Given the description of an element on the screen output the (x, y) to click on. 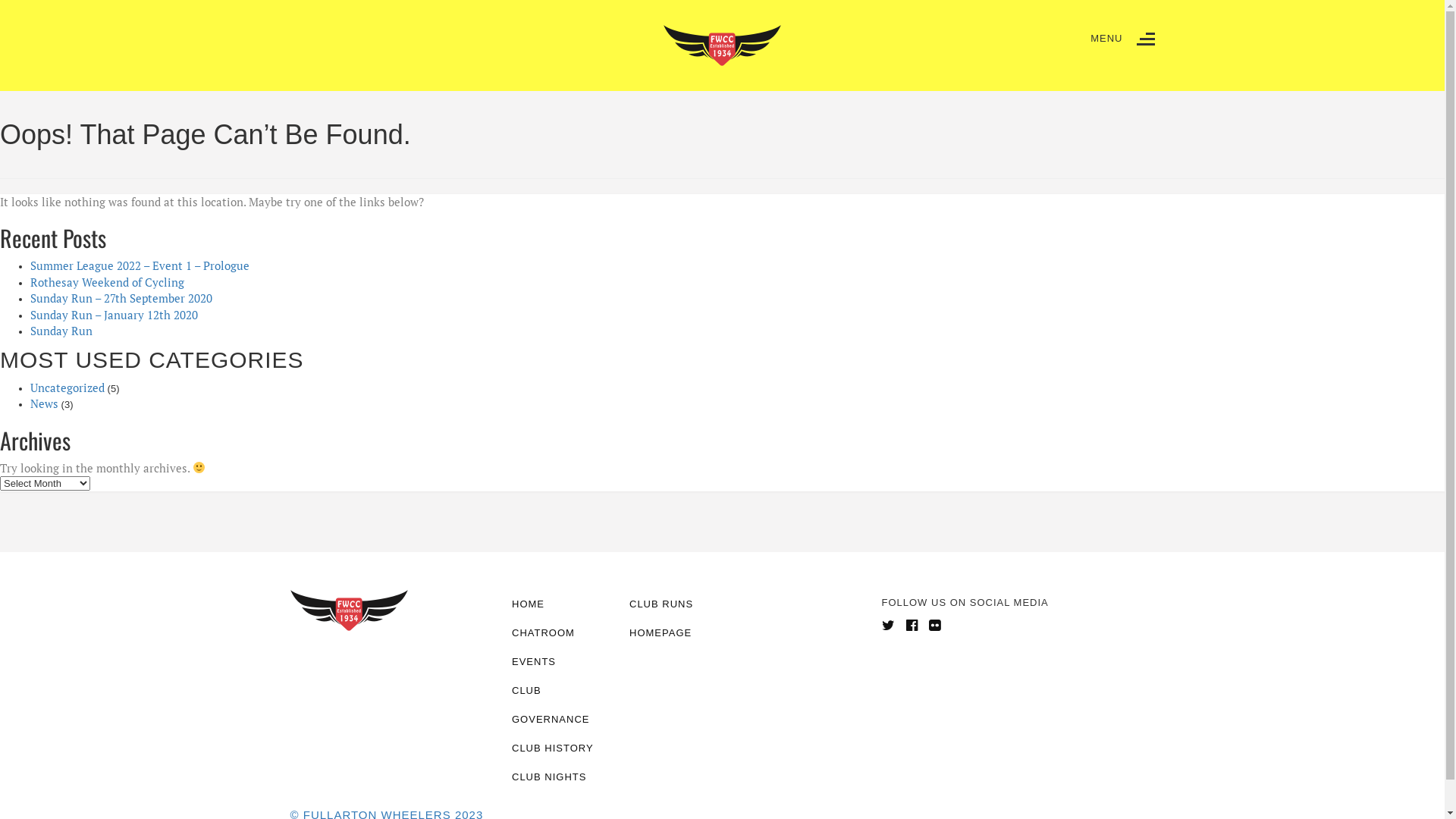
Sunday Run Element type: text (61, 330)
CHATROOM Element type: text (559, 632)
HOME Element type: text (352, 105)
Rothesay Weekend of Cycling Element type: text (107, 281)
CLUB NIGHTS Element type: text (559, 776)
EVENTS Element type: text (500, 105)
News Element type: text (44, 403)
HOMEPAGE Element type: text (676, 632)
EVENTS Element type: text (559, 661)
CLUB GOVERNANCE Element type: text (559, 705)
CLUB HISTORY Element type: text (559, 748)
CLUB RUNS Element type: text (676, 603)
MENU Element type: text (1122, 38)
HOME Element type: text (559, 603)
Uncategorized Element type: text (67, 387)
